Given the description of an element on the screen output the (x, y) to click on. 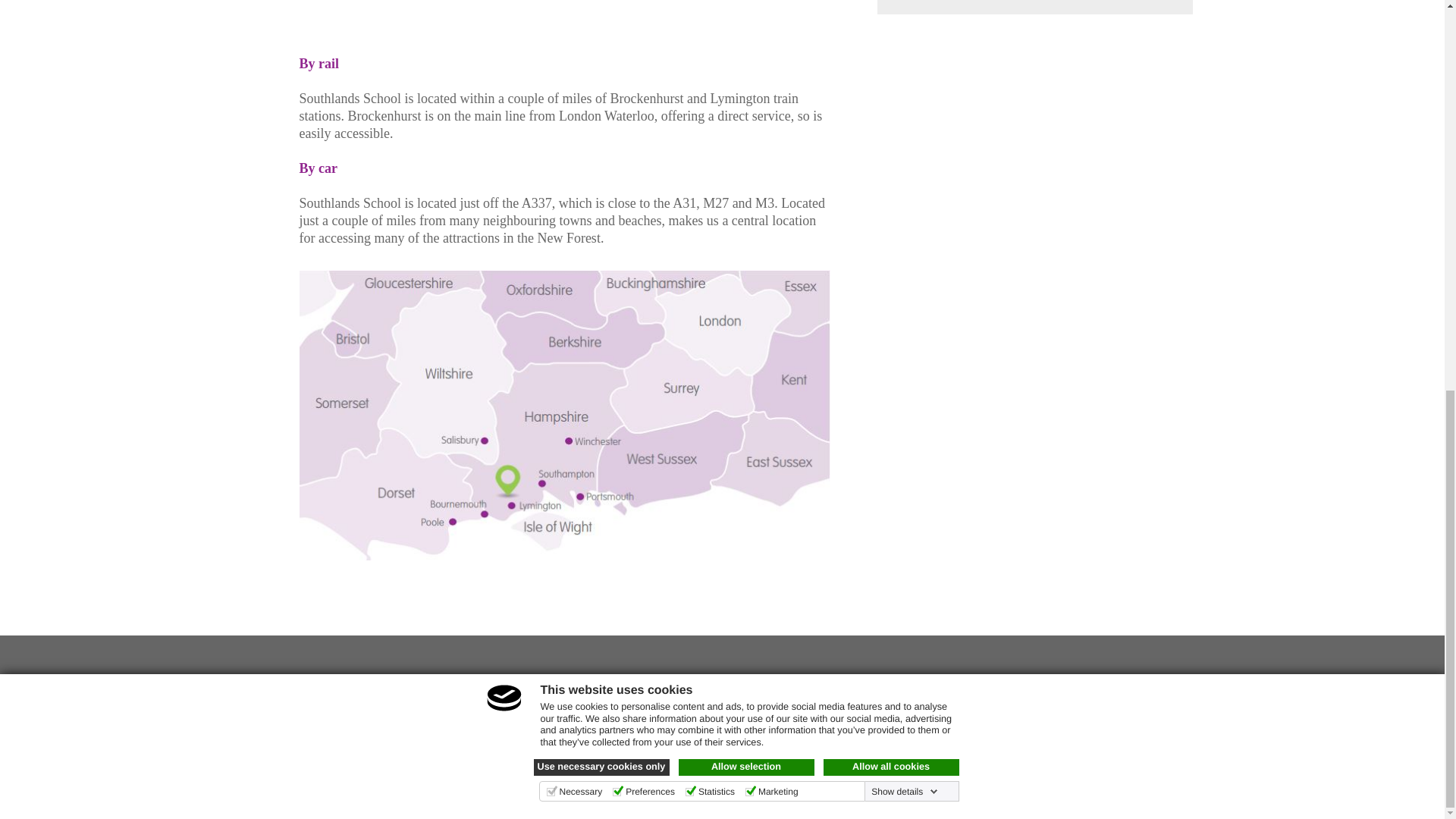
Show details (903, 46)
Use necessary cookies only (601, 21)
Allow selection (745, 21)
Allow all cookies (891, 21)
